Given the description of an element on the screen output the (x, y) to click on. 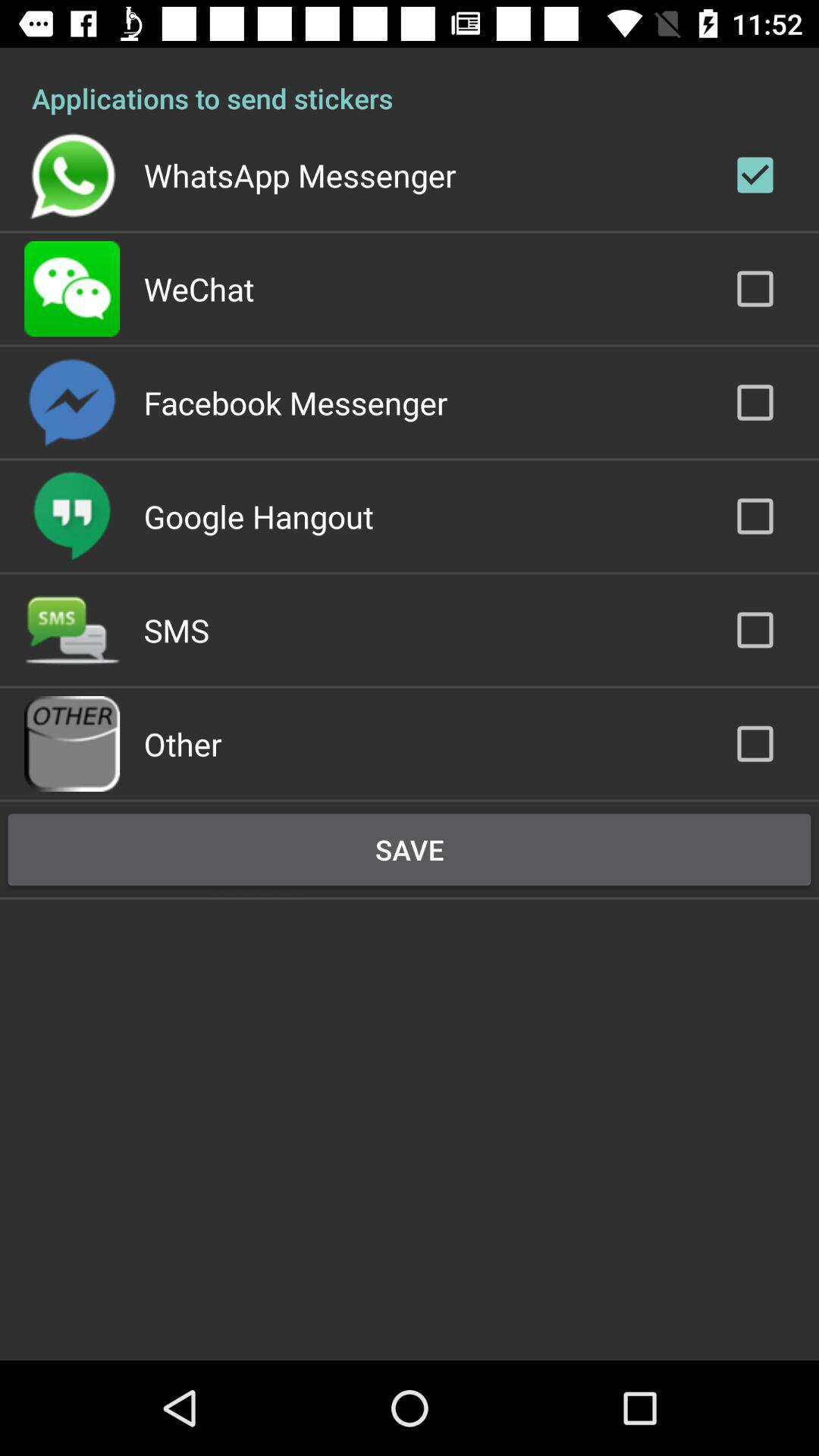
turn off the item below the sms app (182, 743)
